Given the description of an element on the screen output the (x, y) to click on. 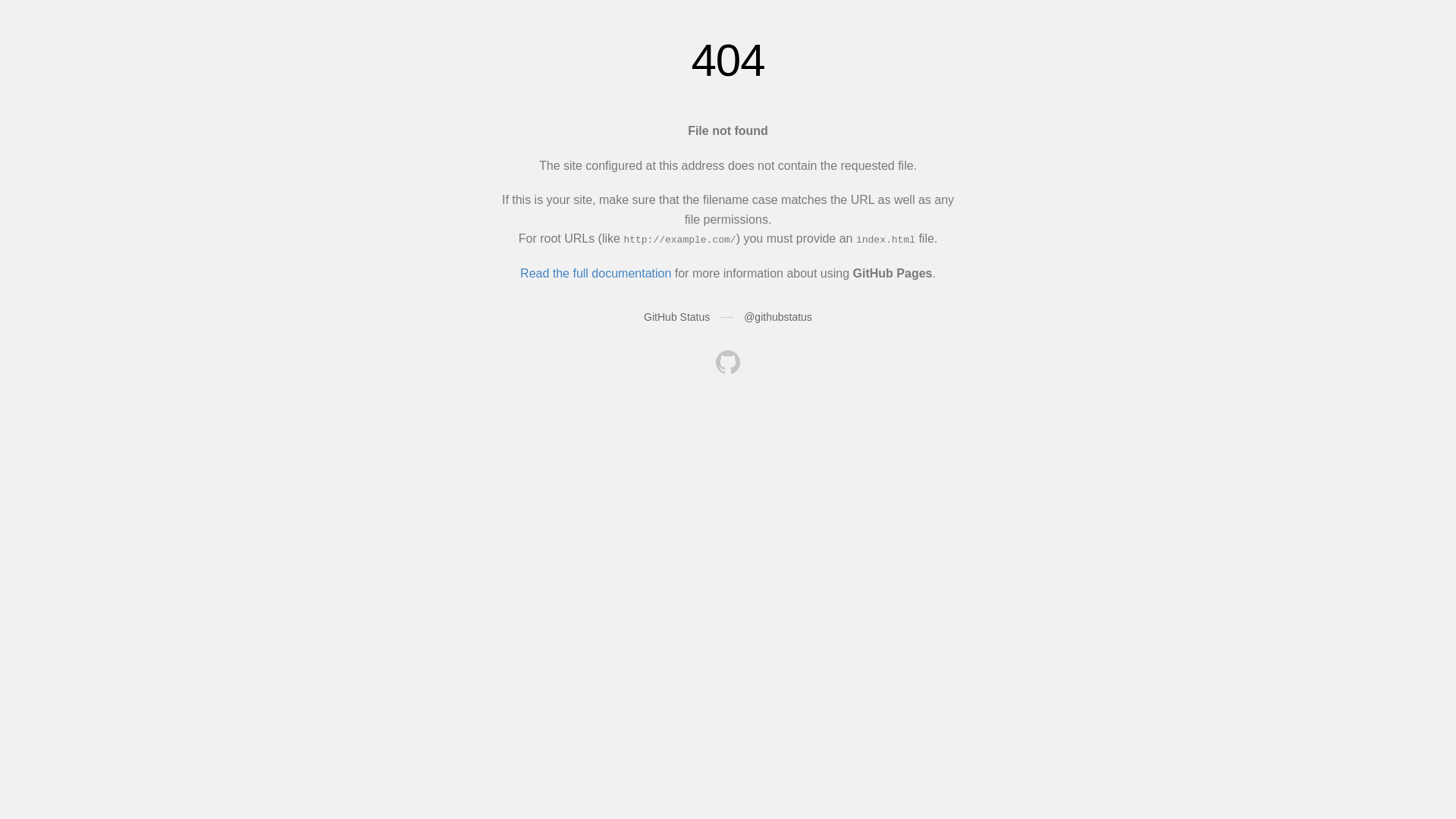
Read the full documentation Element type: text (595, 272)
GitHub Status Element type: text (676, 316)
@githubstatus Element type: text (777, 316)
